Given the description of an element on the screen output the (x, y) to click on. 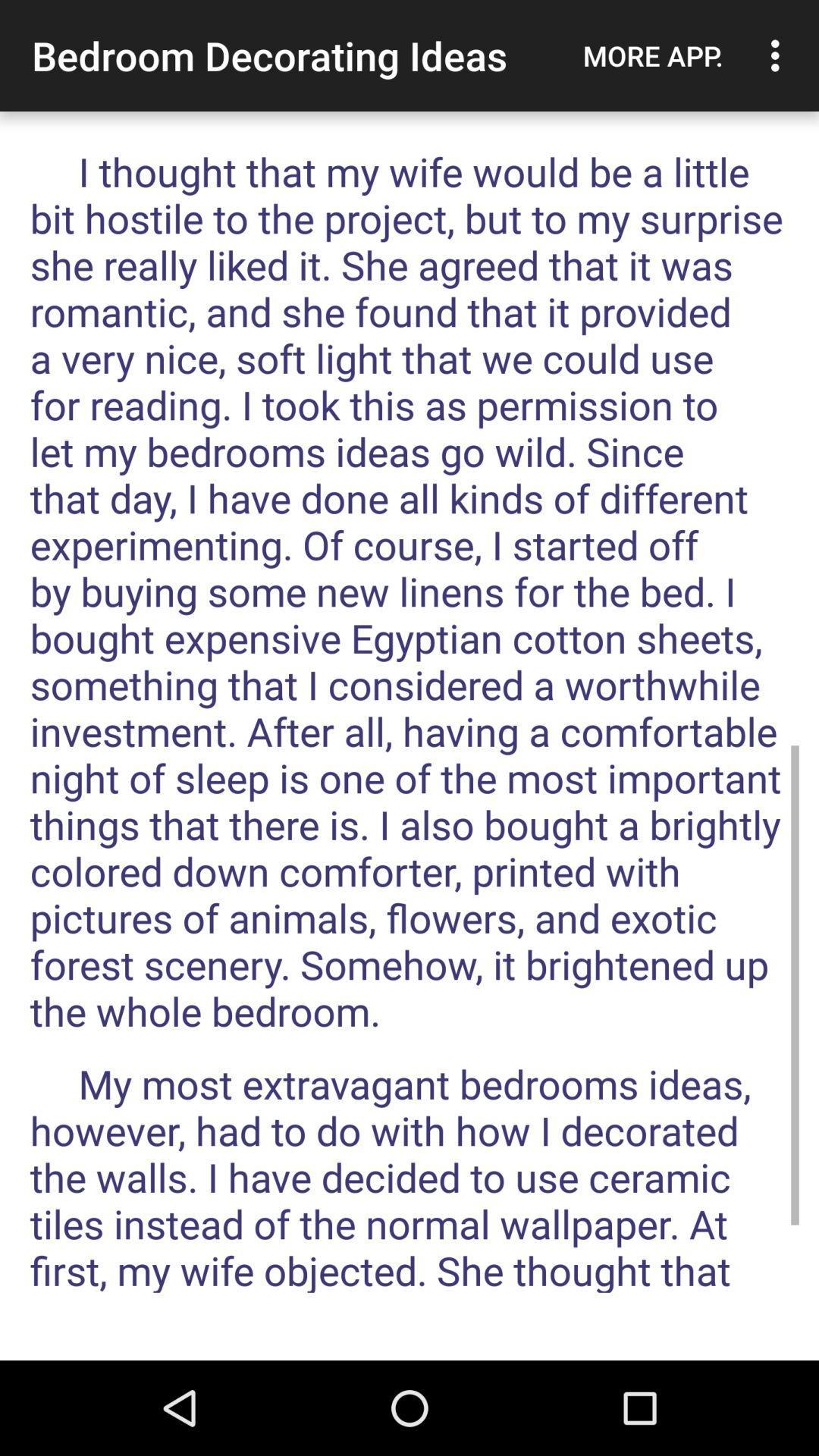
turn on the icon above the i thought that (779, 55)
